Given the description of an element on the screen output the (x, y) to click on. 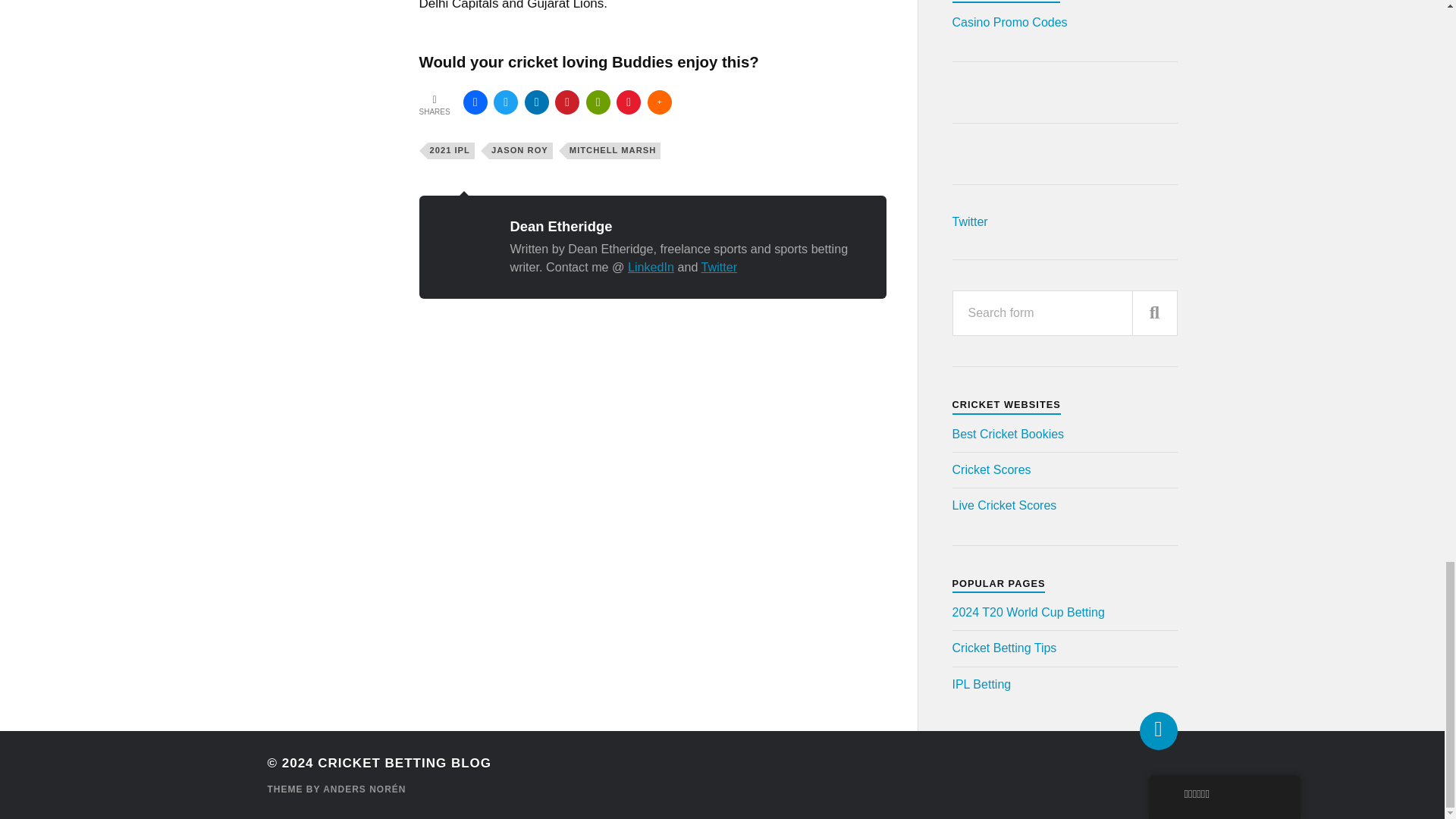
Share this on Facebook (475, 102)
Submit this to Pinterest (566, 102)
All you need to know about betting on 2024 IPL (981, 684)
More share links (659, 102)
Latest Free Cricket Betting Tips (1004, 647)
Add this to LinkedIn (536, 102)
Find The Top Paying Casino Welcome Bonuses  (1009, 21)
Tweet this ! (505, 102)
Print this article  (598, 102)
Betting Guide to 2024 T20 World Cup (1028, 612)
